Given the description of an element on the screen output the (x, y) to click on. 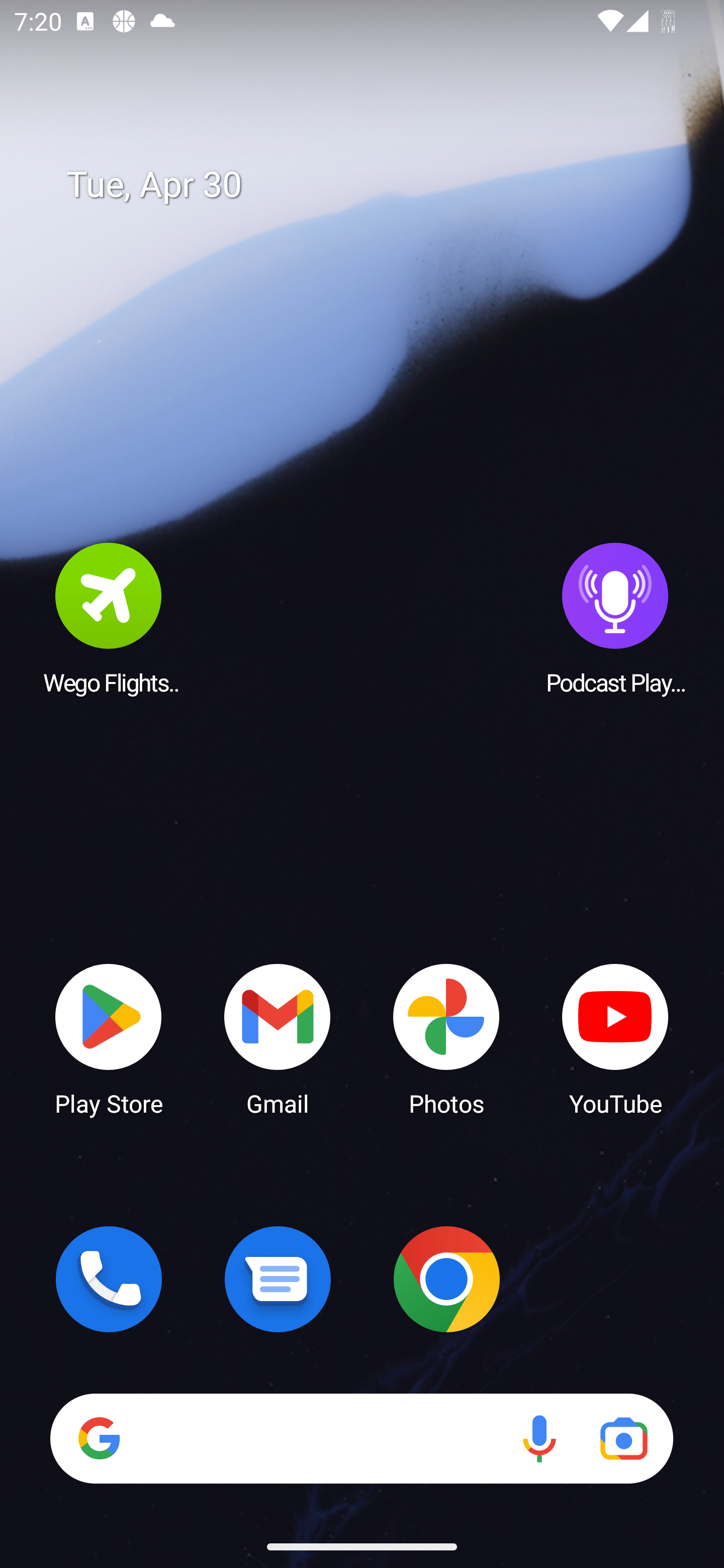
Tue, Apr 30 (375, 184)
Wego Flights & Hotels (108, 617)
Podcast Player (615, 617)
Play Store (108, 1038)
Gmail (277, 1038)
Photos (445, 1038)
YouTube (615, 1038)
Phone (108, 1279)
Messages (277, 1279)
Chrome (446, 1279)
Voice search (539, 1438)
Google Lens (623, 1438)
